Given the description of an element on the screen output the (x, y) to click on. 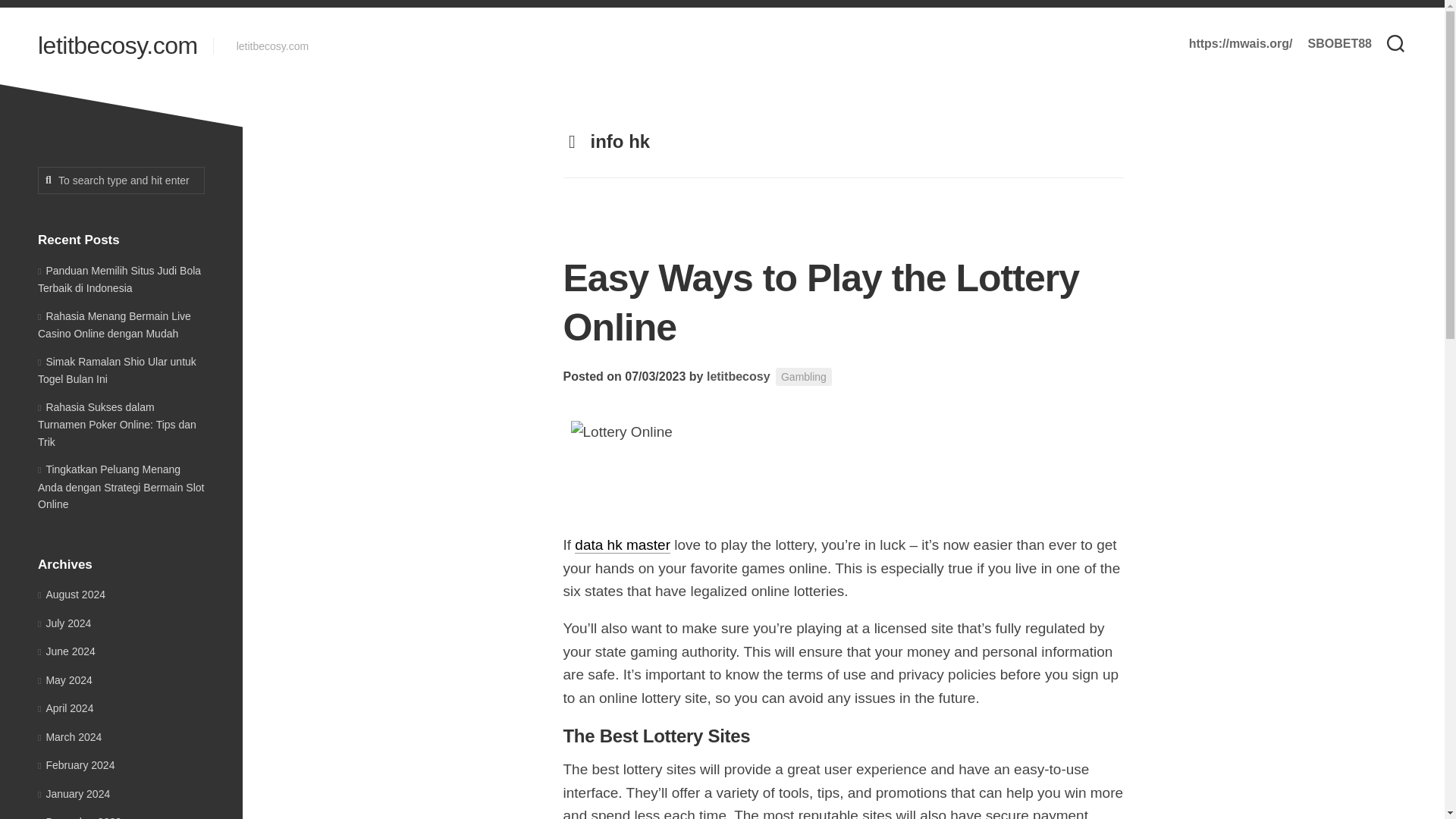
May 2024 (65, 679)
August 2024 (70, 594)
SBOBET88 (1339, 43)
Rahasia Sukses dalam Turnamen Poker Online: Tips dan Trik (116, 423)
Easy Ways to Play the Lottery Online (820, 302)
December 2023 (78, 817)
February 2024 (76, 765)
June 2024 (66, 651)
Posts by letitbecosy (738, 376)
letitbecosy.com (117, 44)
To search type and hit enter (121, 180)
data hk master (622, 544)
To search type and hit enter (121, 180)
Gambling (803, 376)
